Given the description of an element on the screen output the (x, y) to click on. 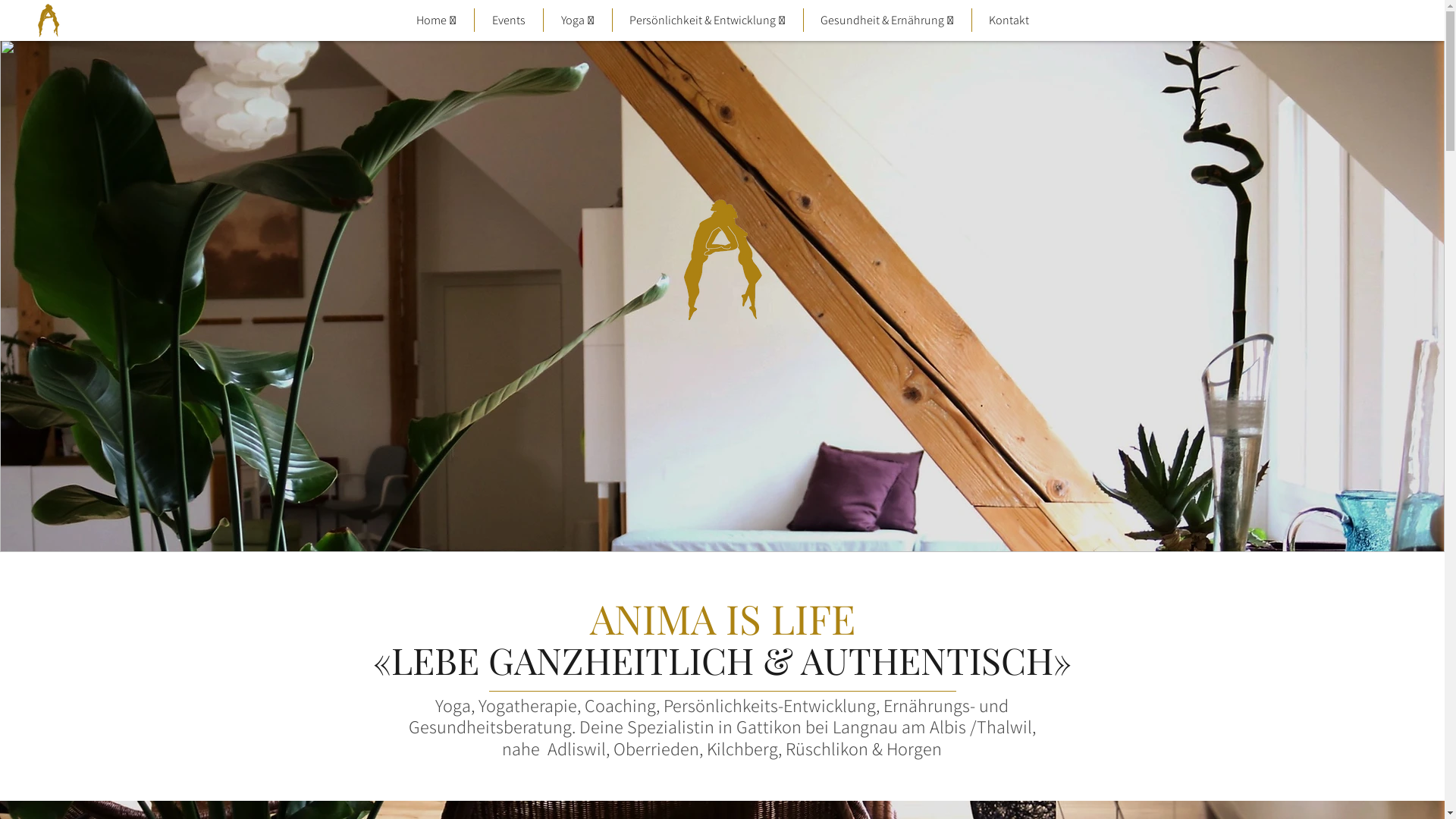
Kontakt Element type: text (1009, 19)
Events Element type: text (508, 19)
